Given the description of an element on the screen output the (x, y) to click on. 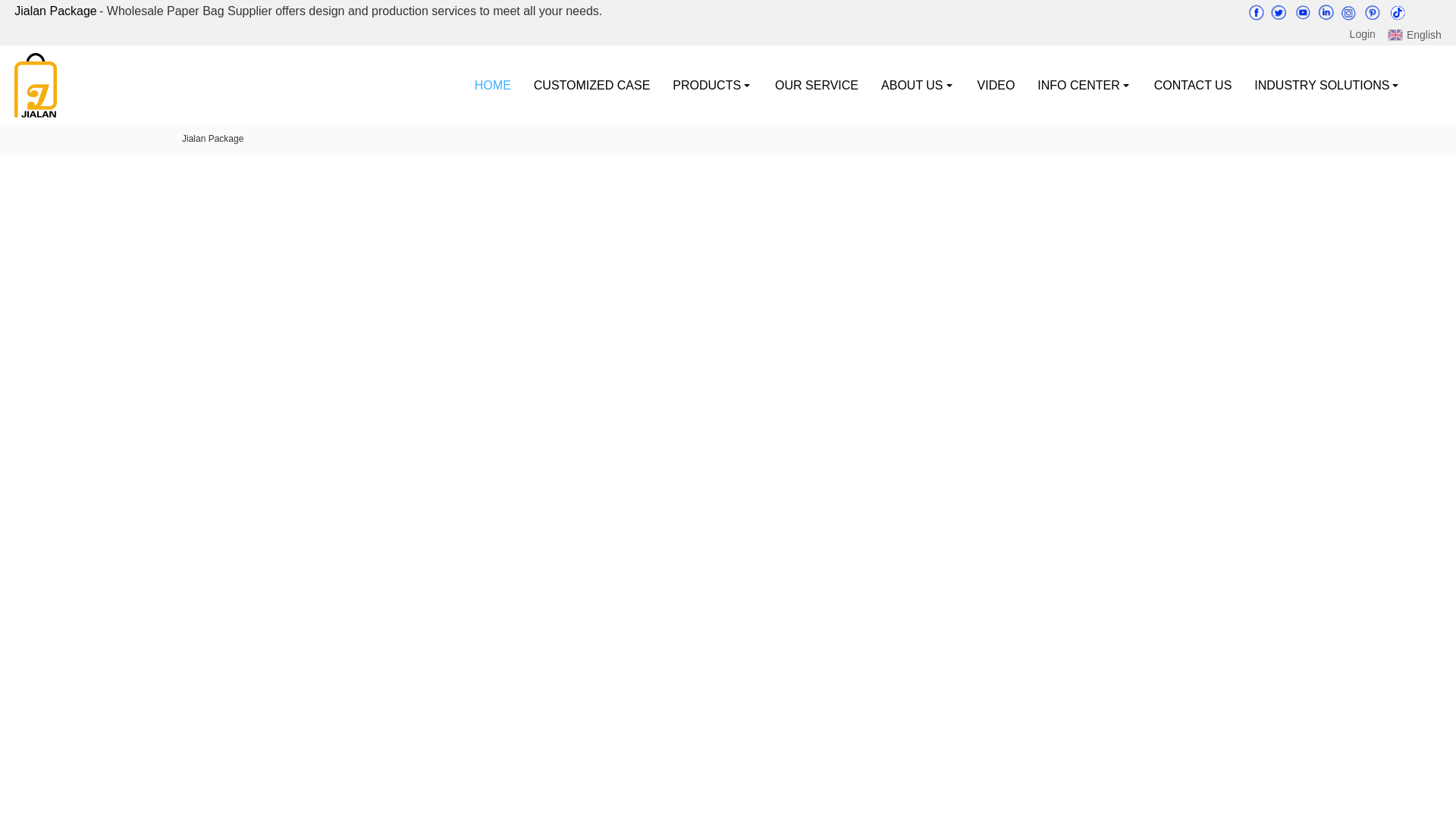
CUSTOMIZED CASE (592, 85)
HOME (492, 85)
Login (1361, 33)
PRODUCTS (711, 85)
OUR SERVICE (815, 85)
